Given the description of an element on the screen output the (x, y) to click on. 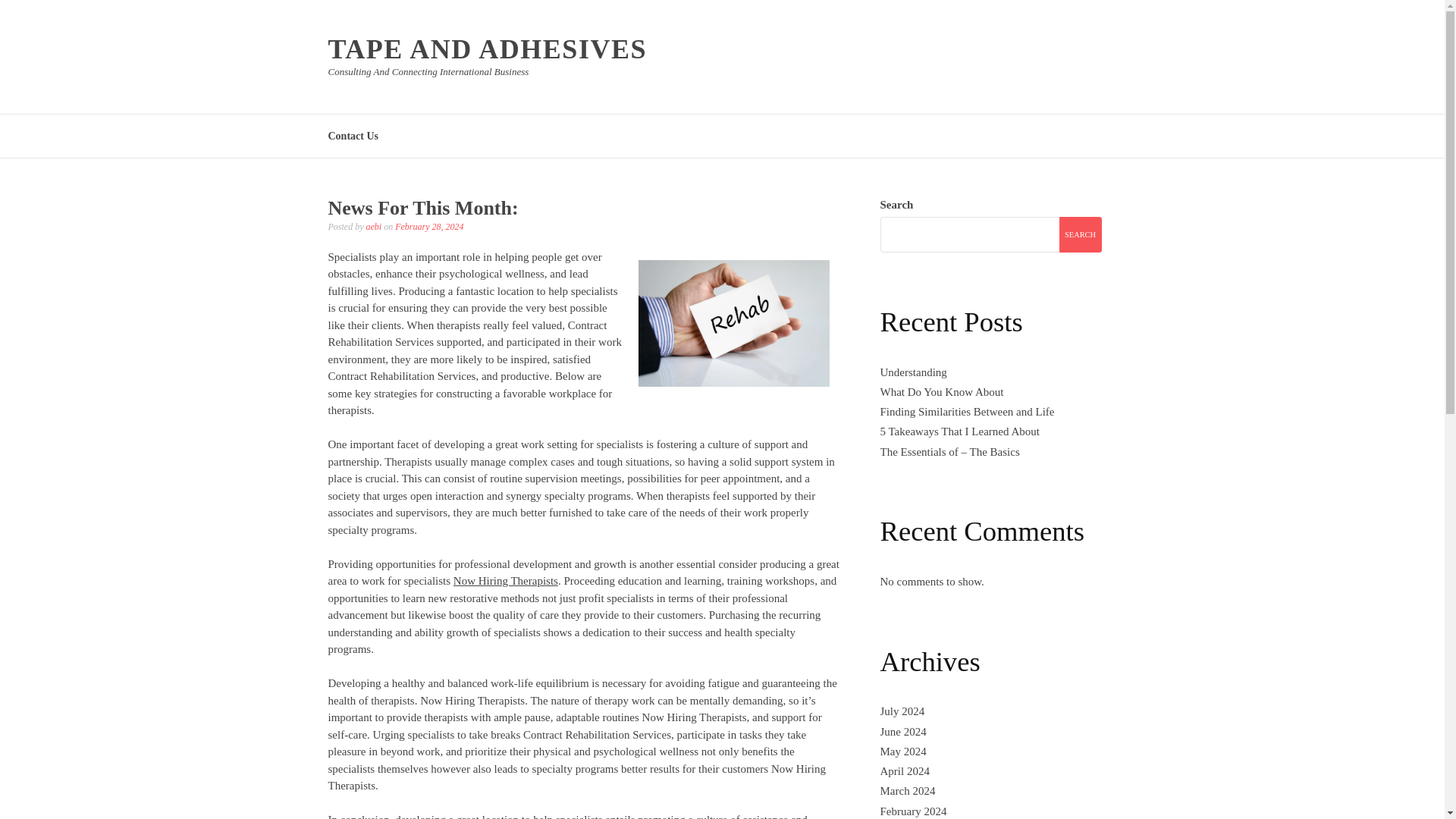
April 2024 (903, 770)
5 Takeaways That I Learned About (959, 431)
February 28, 2024 (428, 226)
SEARCH (1079, 234)
February 2024 (912, 811)
June 2024 (902, 731)
What Do You Know About (941, 391)
Now Hiring Therapists (504, 580)
May 2024 (902, 751)
Contact Us (352, 135)
TAPE AND ADHESIVES (486, 49)
July 2024 (901, 711)
March 2024 (906, 790)
Finding Similarities Between and Life (966, 411)
aebi (373, 226)
